Given the description of an element on the screen output the (x, y) to click on. 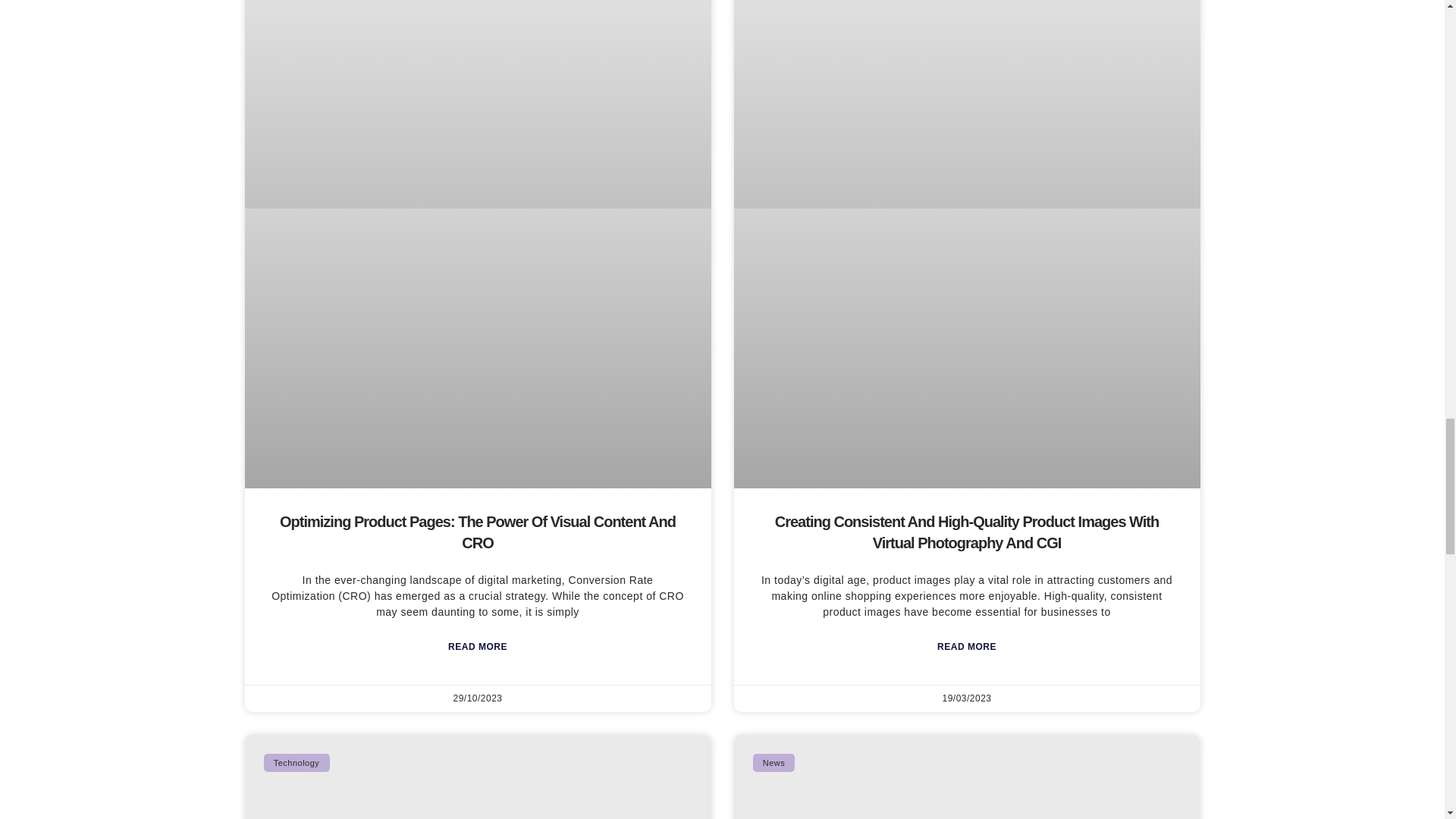
READ MORE (477, 647)
READ MORE (966, 647)
